Given the description of an element on the screen output the (x, y) to click on. 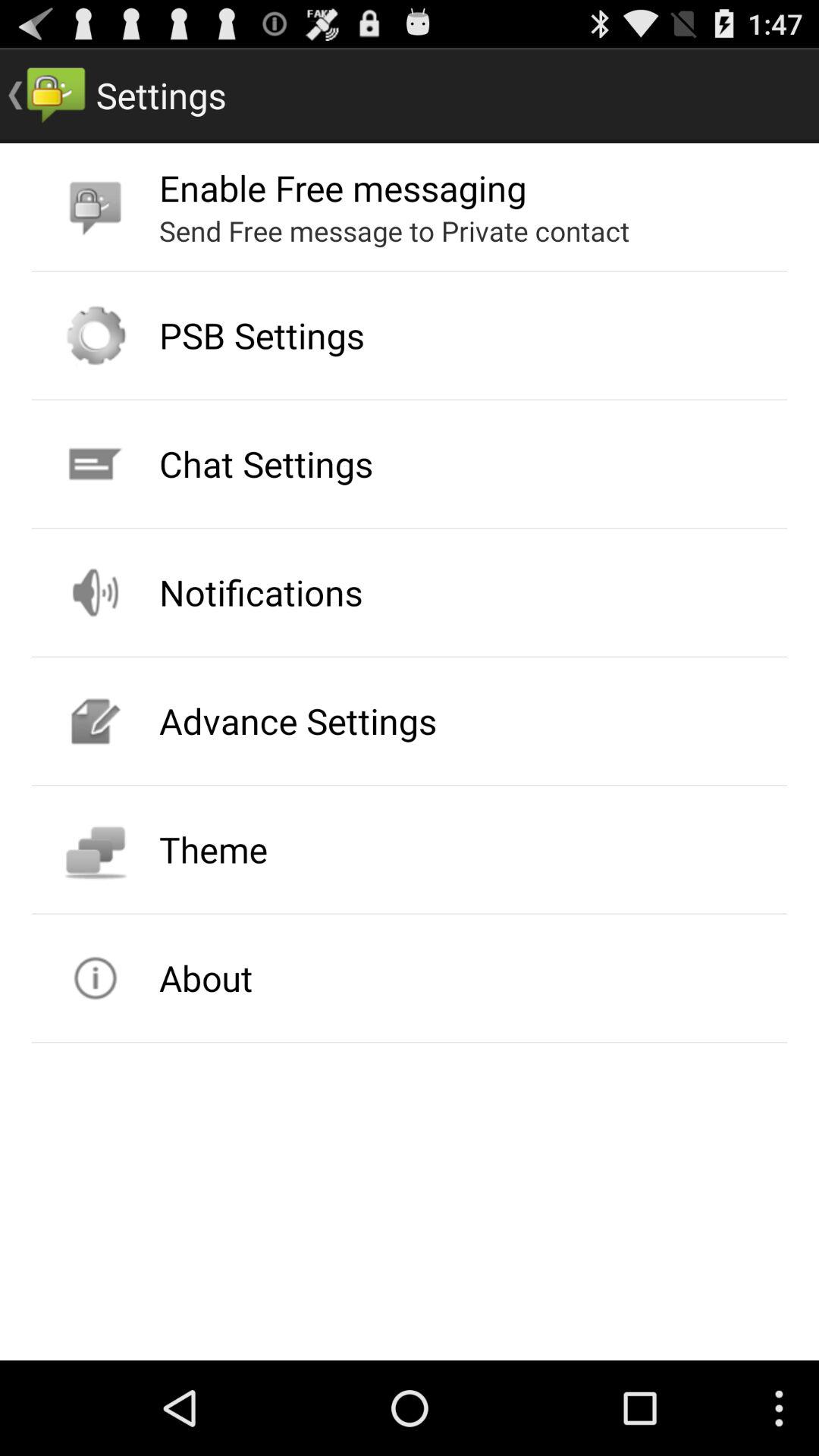
select icon beside psb settings (95, 336)
click on icon beside theme (95, 850)
click on the icon beside chat settings (95, 464)
select icon beside enable free messaging (95, 206)
